Given the description of an element on the screen output the (x, y) to click on. 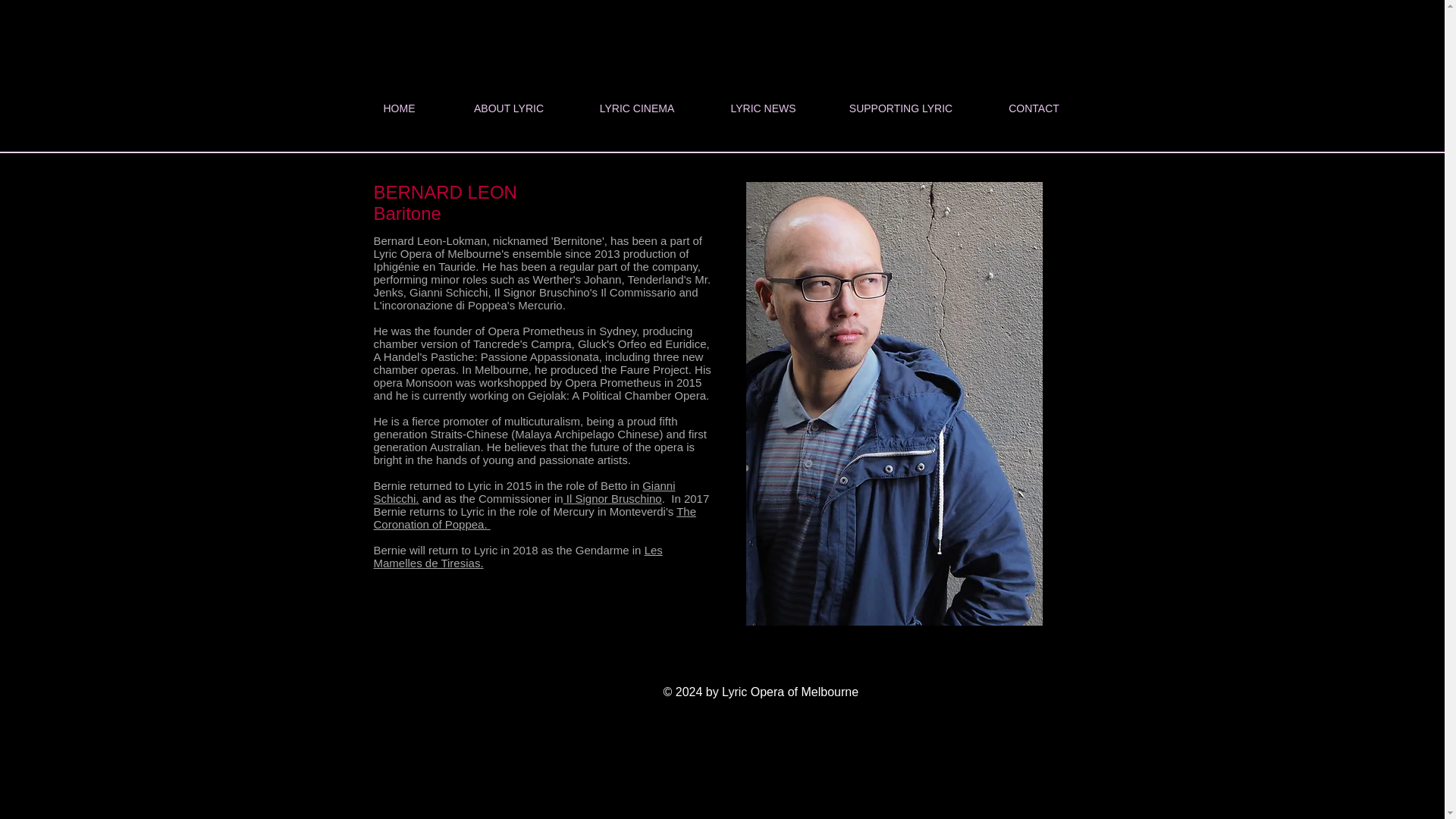
ABOUT LYRIC (507, 108)
SUPPORTING LYRIC (900, 108)
 and as the Commissioner in Il Signor Bruschino.  (543, 498)
Gianni Schicchi. (523, 492)
LYRIC CINEMA (637, 108)
LYRIC NEWS (762, 108)
HOME (398, 108)
CONTACT (1034, 108)
The Coronation of Poppea.  (533, 517)
Les Mamelles de Tiresias. (517, 556)
